Given the description of an element on the screen output the (x, y) to click on. 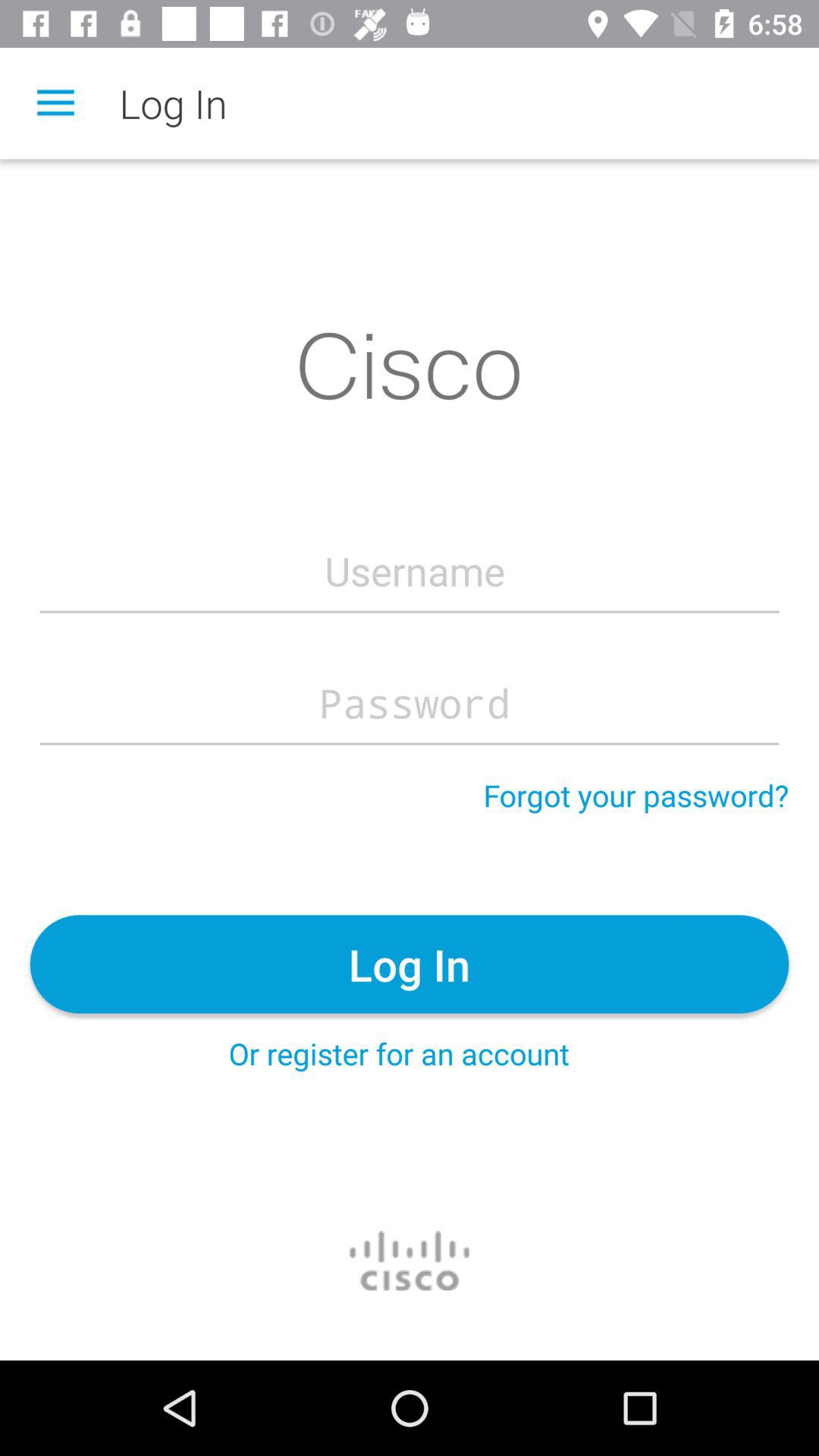
choose the icon below log in item (398, 1053)
